Given the description of an element on the screen output the (x, y) to click on. 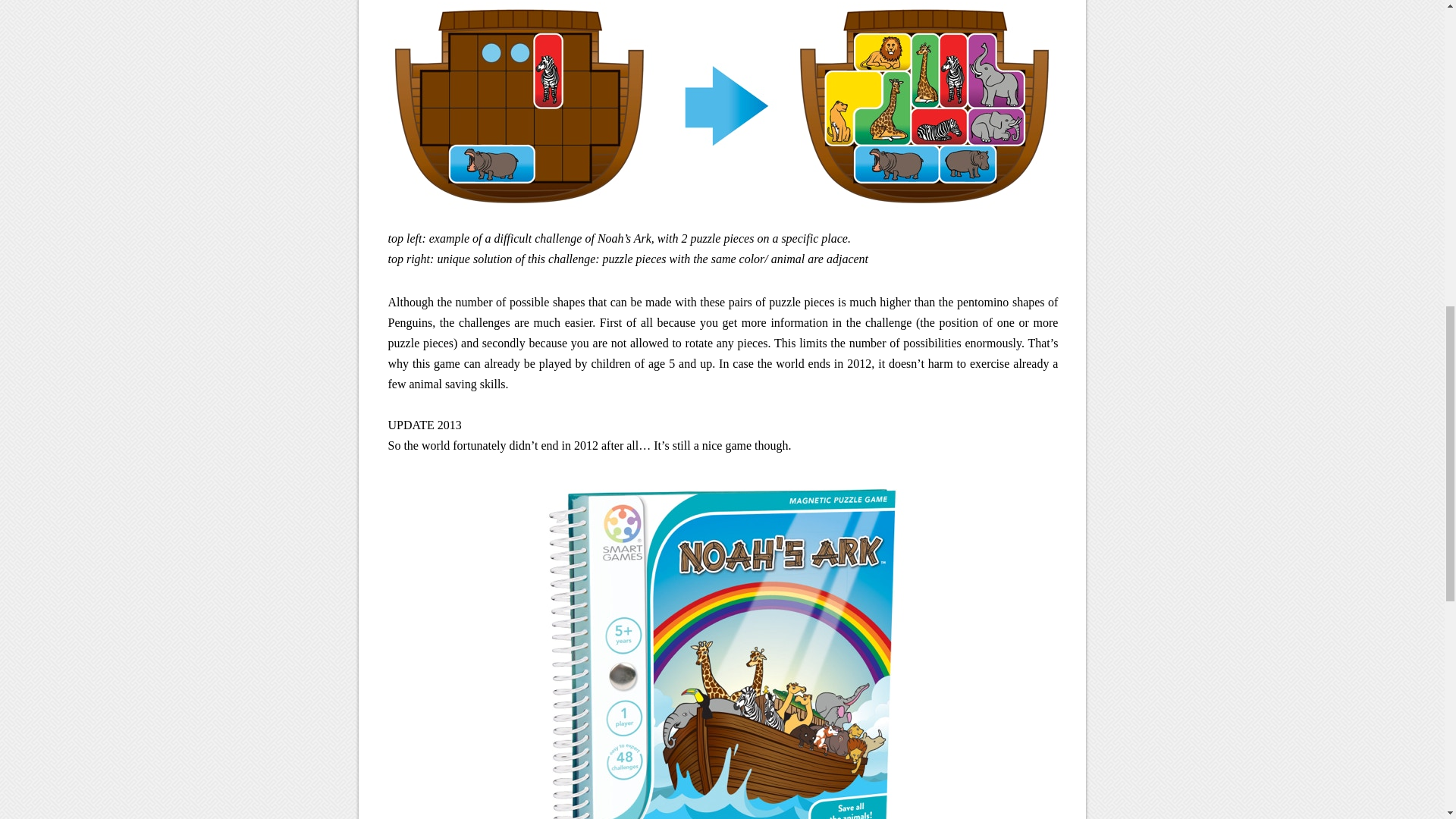
Noah's Arks, a magnetic puzzle game I designed for Smart (722, 647)
